Given the description of an element on the screen output the (x, y) to click on. 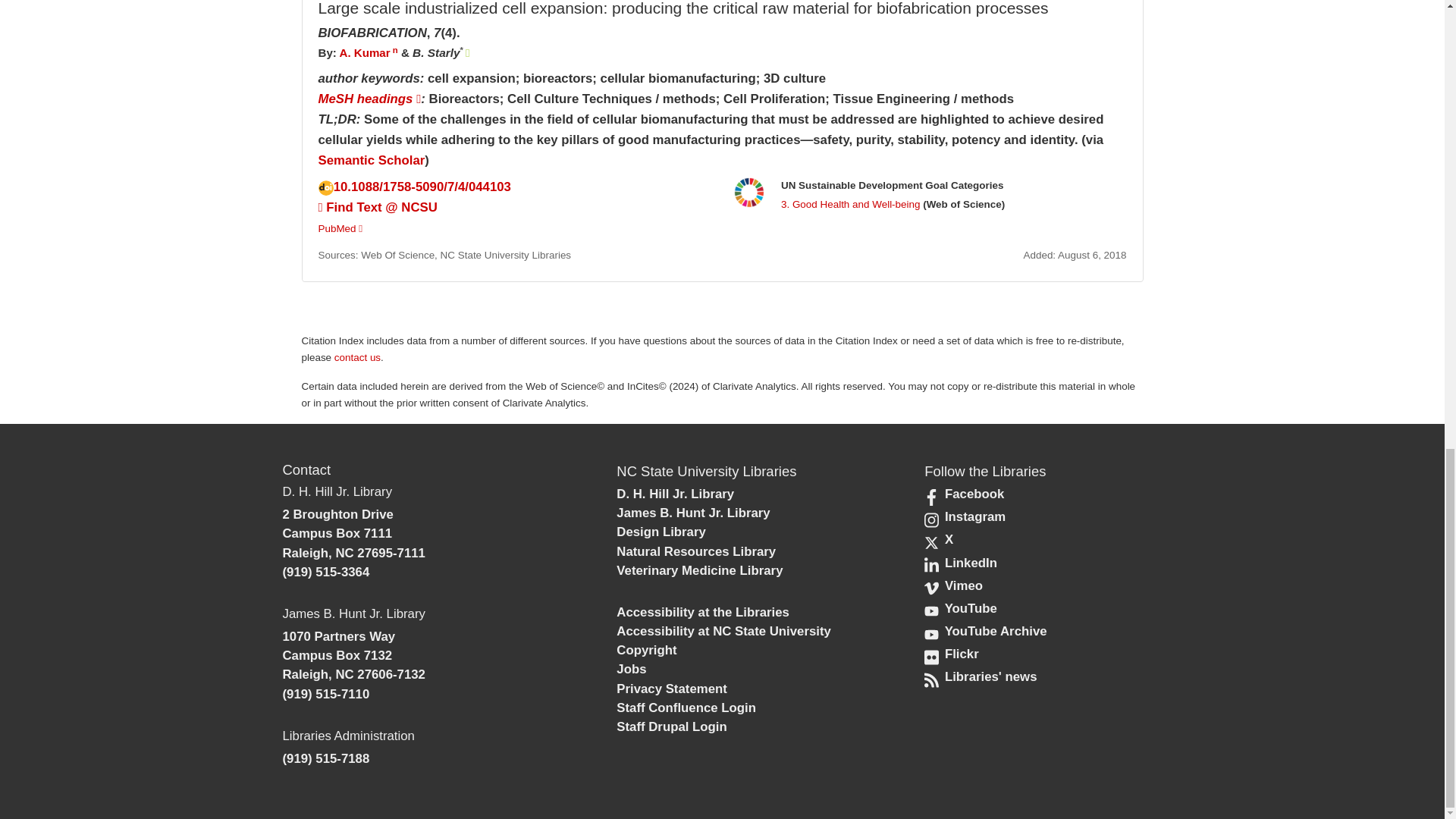
A. Kumar (364, 51)
MeSH headings (370, 98)
Search for works related to SDG 3 (850, 204)
Binil Starly - Binil Starly -  (436, 51)
Semantic Scholar (371, 160)
